Given the description of an element on the screen output the (x, y) to click on. 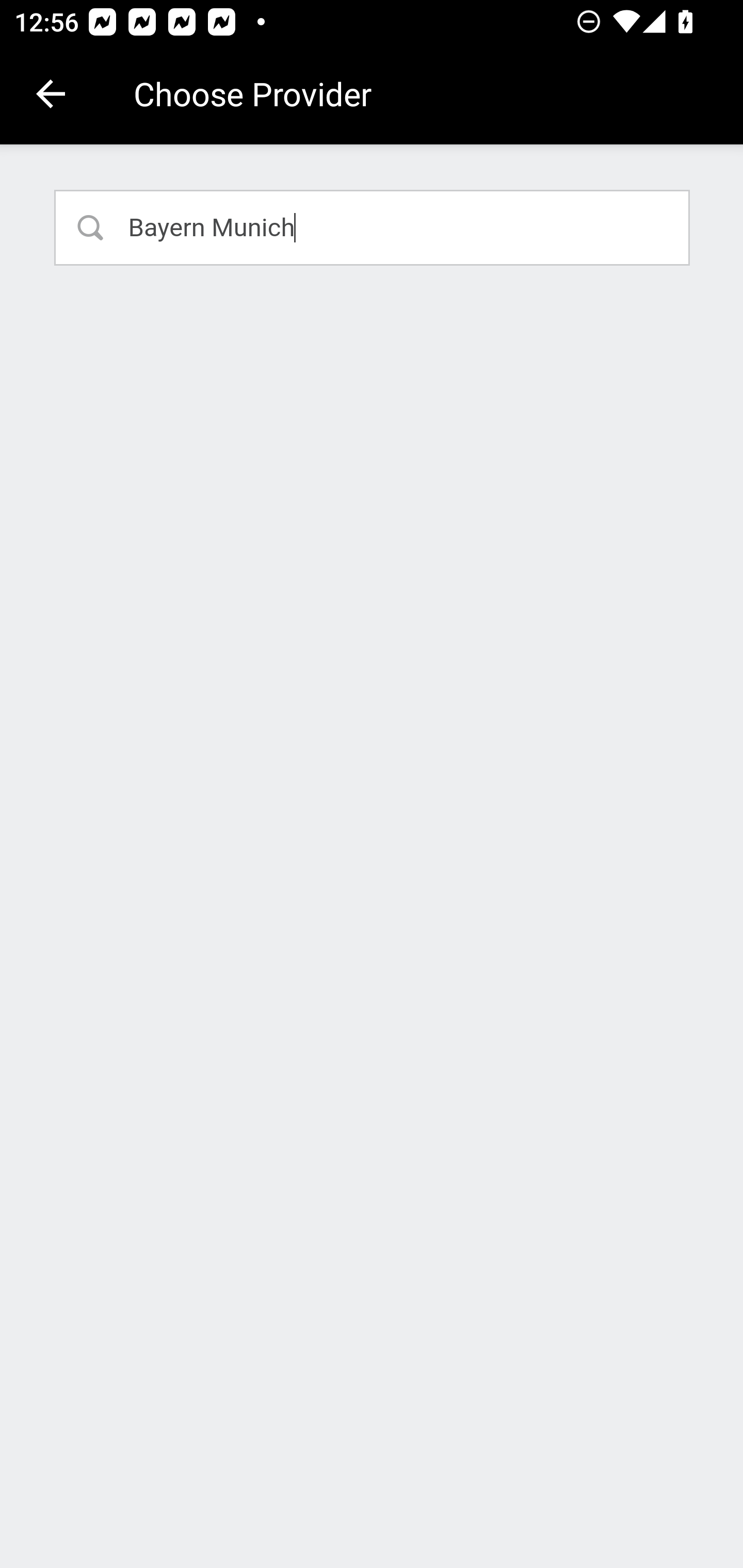
Navigate up (50, 93)
Bayern Munich (372, 227)
